Given the description of an element on the screen output the (x, y) to click on. 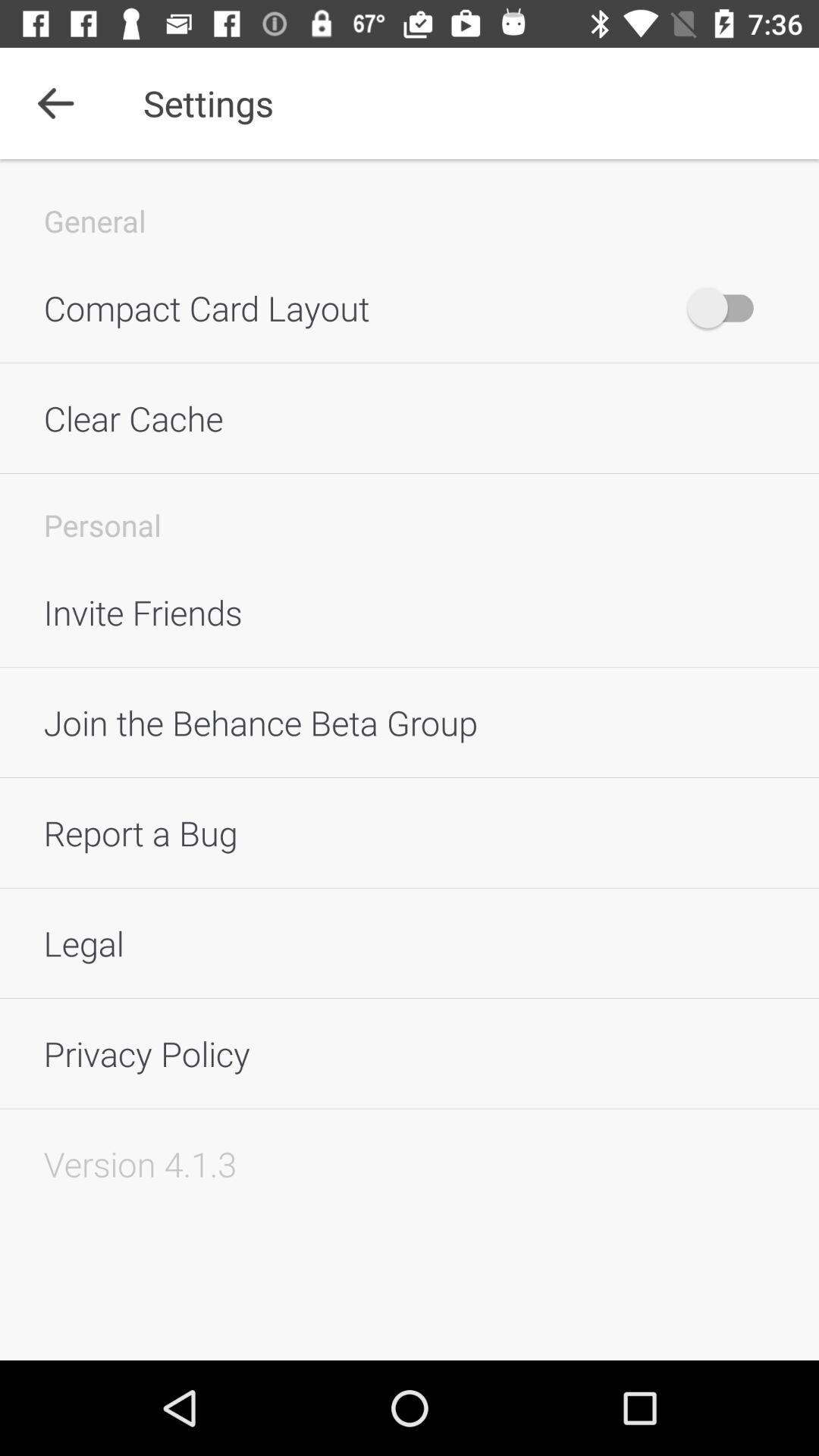
turn off report a bug icon (409, 832)
